Given the description of an element on the screen output the (x, y) to click on. 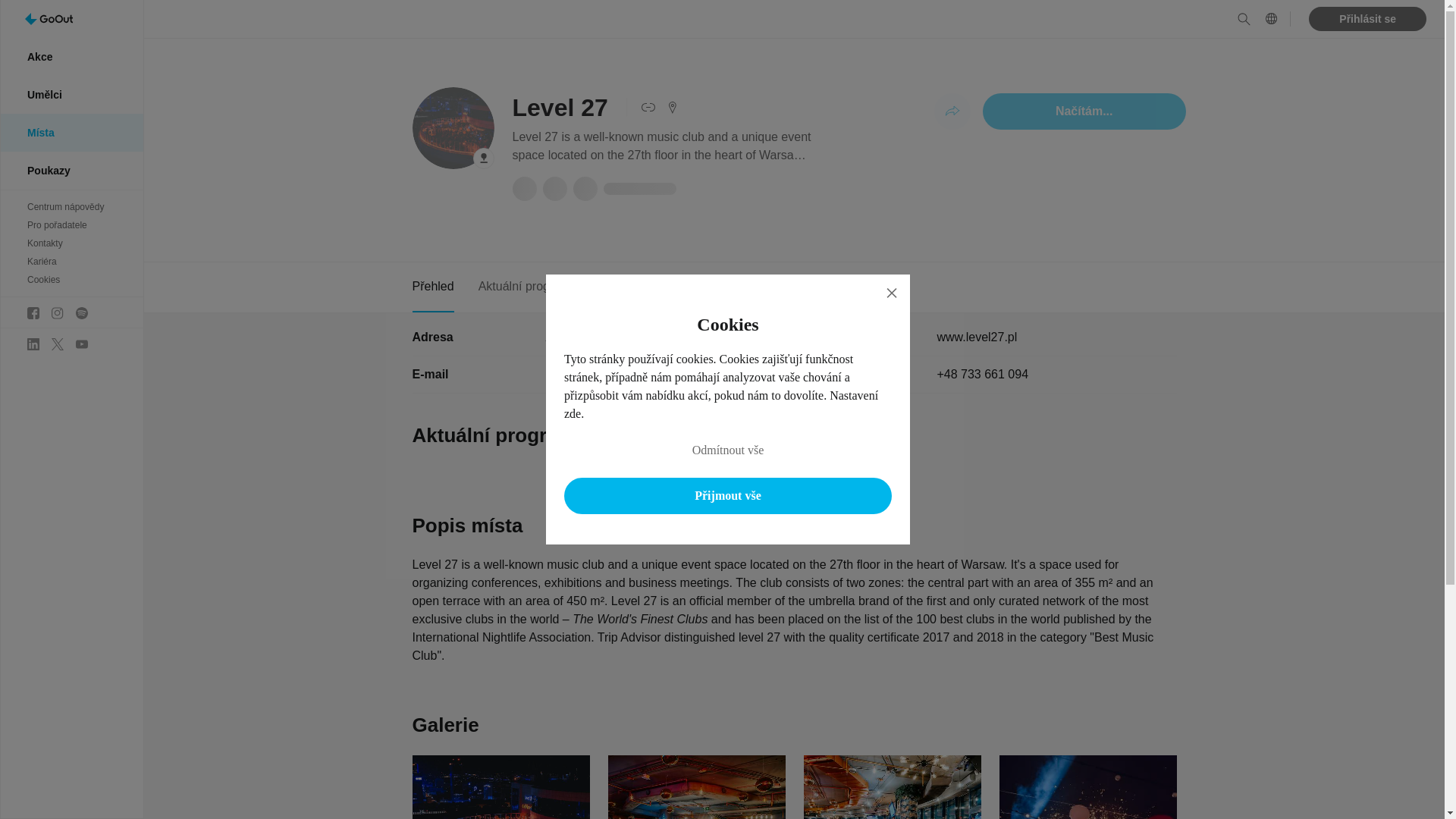
www.level27.pl (976, 336)
Kontakty (71, 243)
Akce (71, 56)
Poukazy (71, 170)
